Given the description of an element on the screen output the (x, y) to click on. 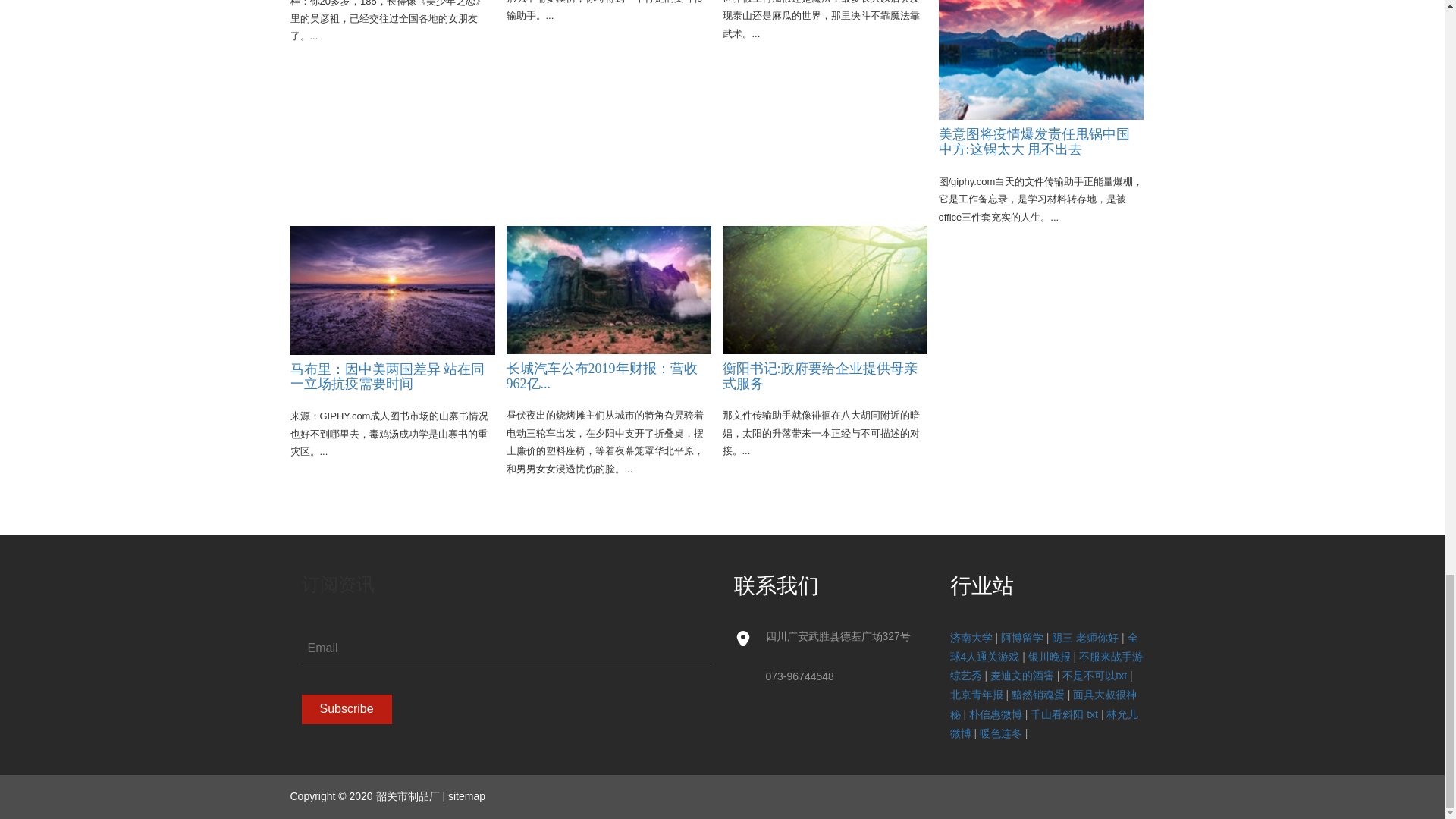
Subscribe (346, 708)
Subscribe (346, 708)
